Given the description of an element on the screen output the (x, y) to click on. 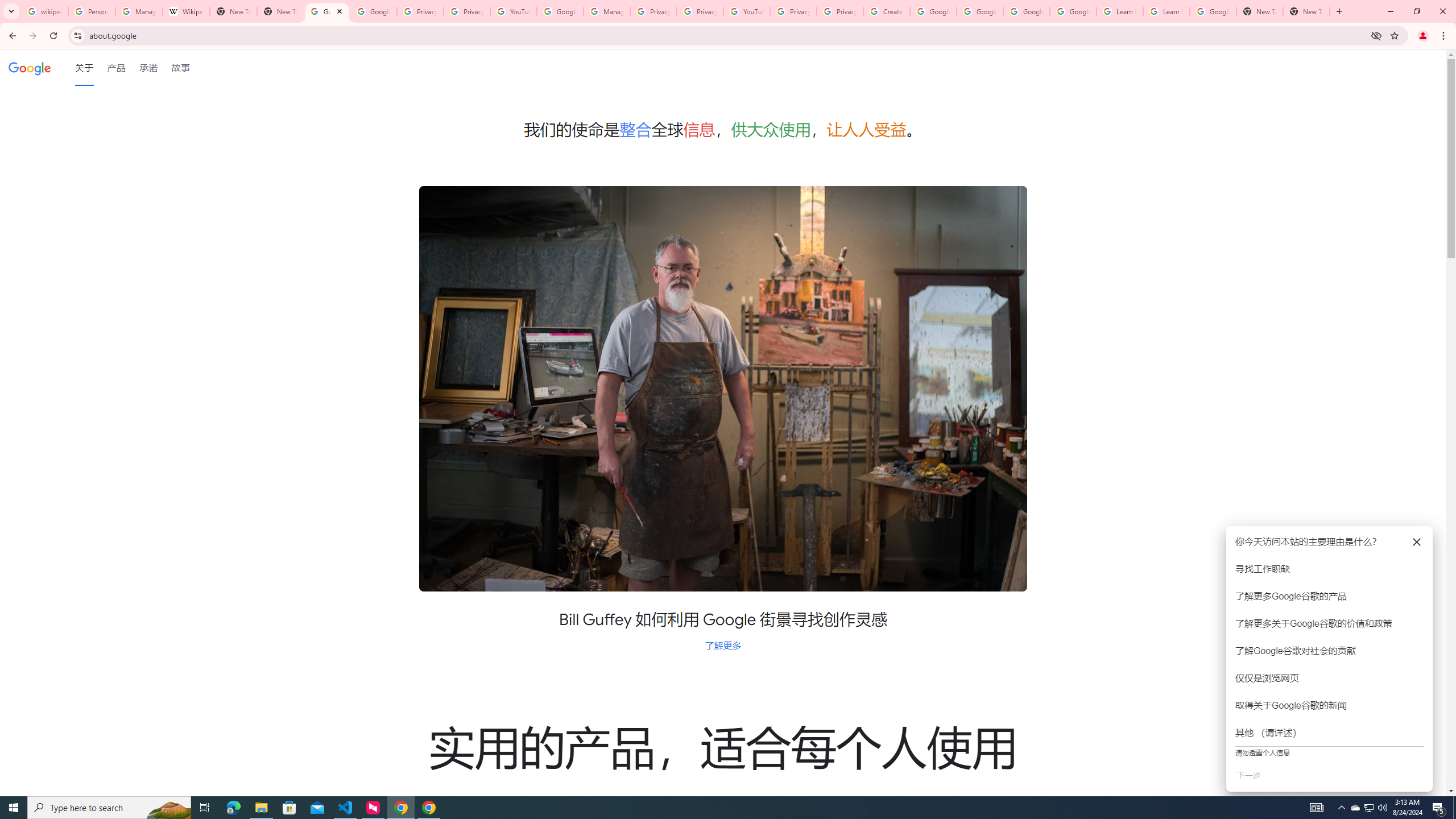
Google Account Help (1026, 11)
